Given the description of an element on the screen output the (x, y) to click on. 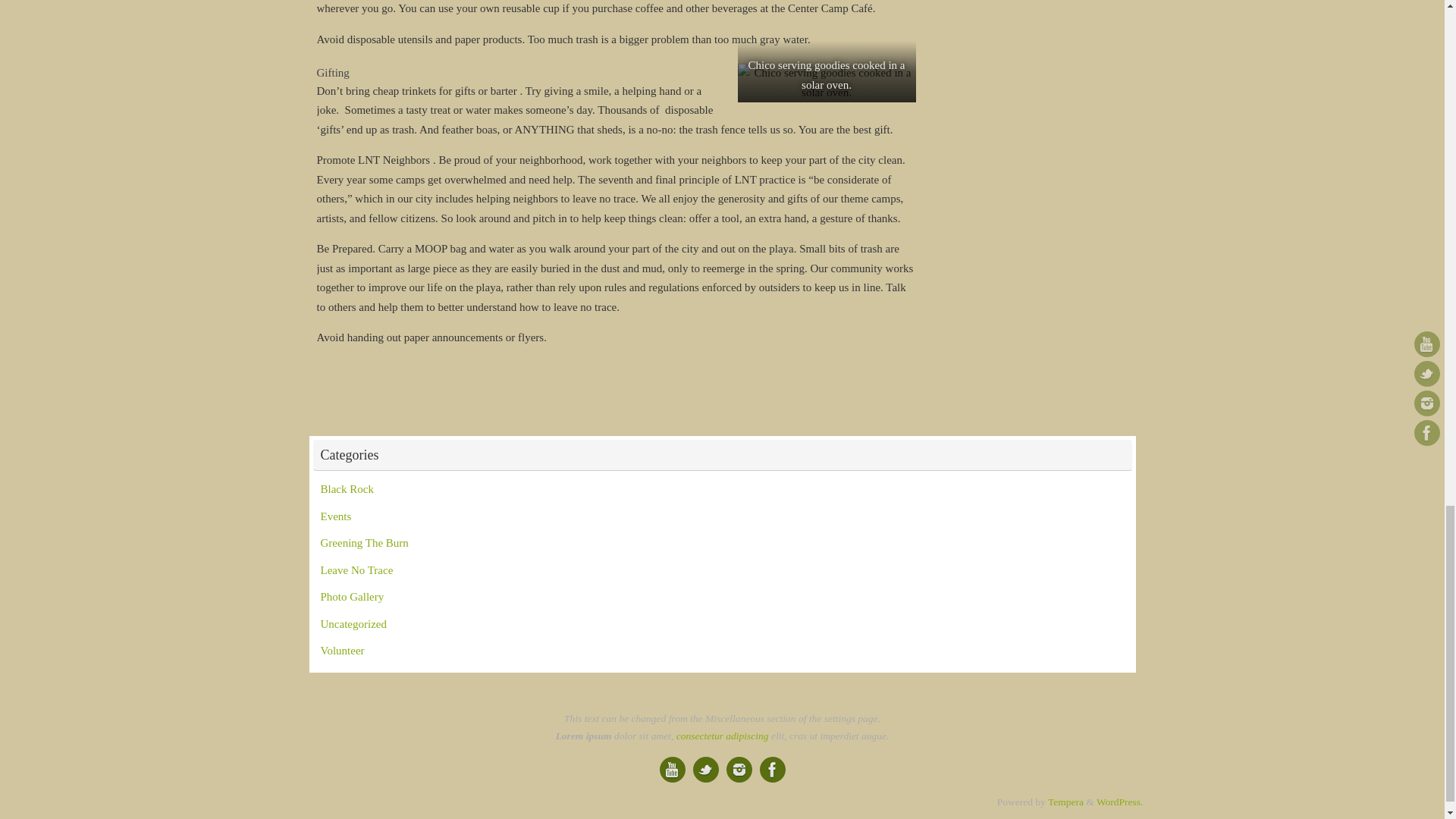
Tempera Theme by Cryout Creations (1065, 801)
Semantic Personal Publishing Platform (1119, 801)
Burning Man You Tube (672, 769)
Twitter: BM Earth Guardians (706, 769)
Instagram: Earth Guardians (739, 769)
Facebook BRC Earth Guardians (773, 769)
